Given the description of an element on the screen output the (x, y) to click on. 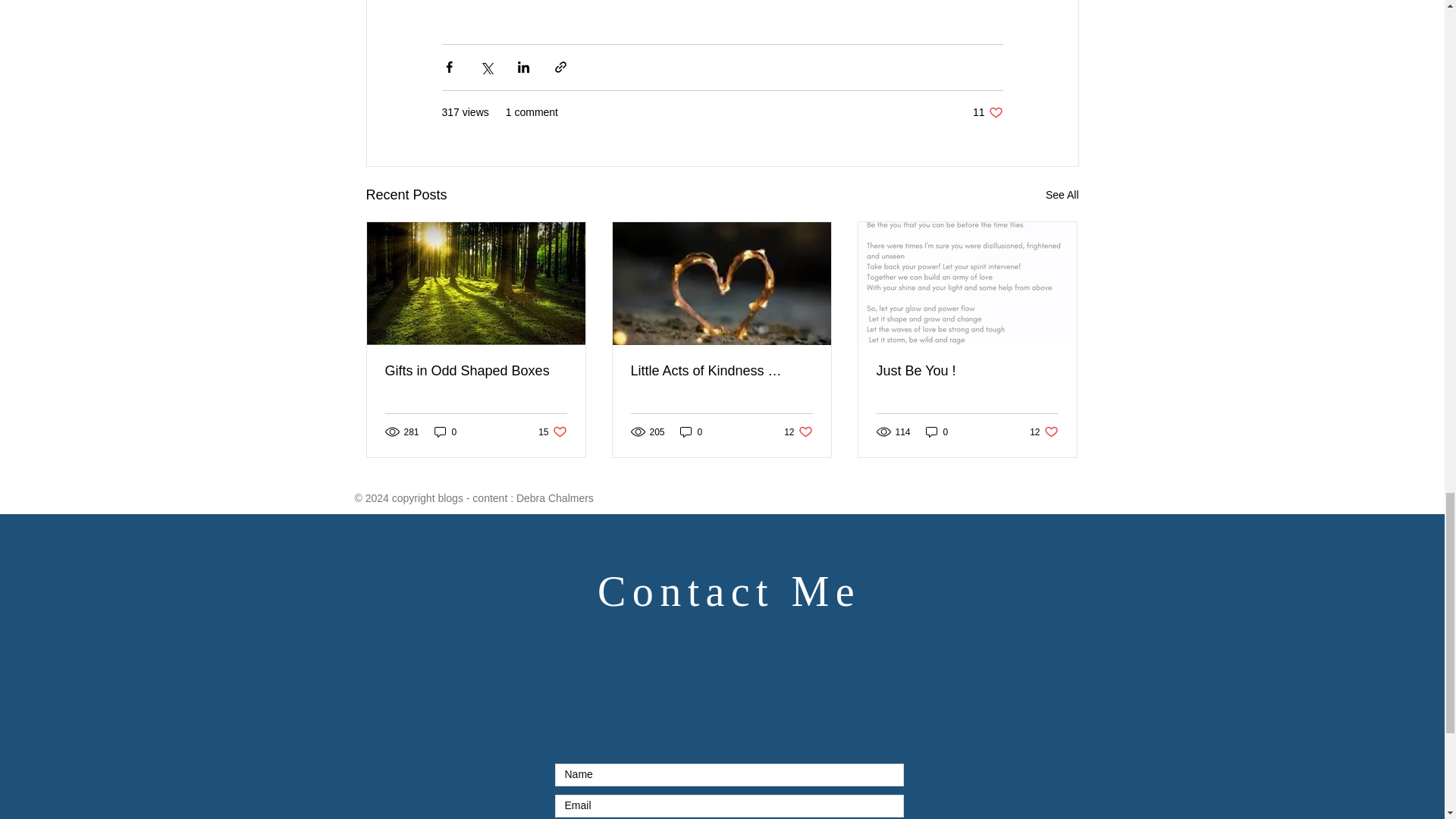
Gifts in Odd Shaped Boxes (476, 370)
0 (691, 431)
See All (1061, 194)
Just Be You ! (798, 431)
0 (552, 431)
0 (967, 370)
